Given the description of an element on the screen output the (x, y) to click on. 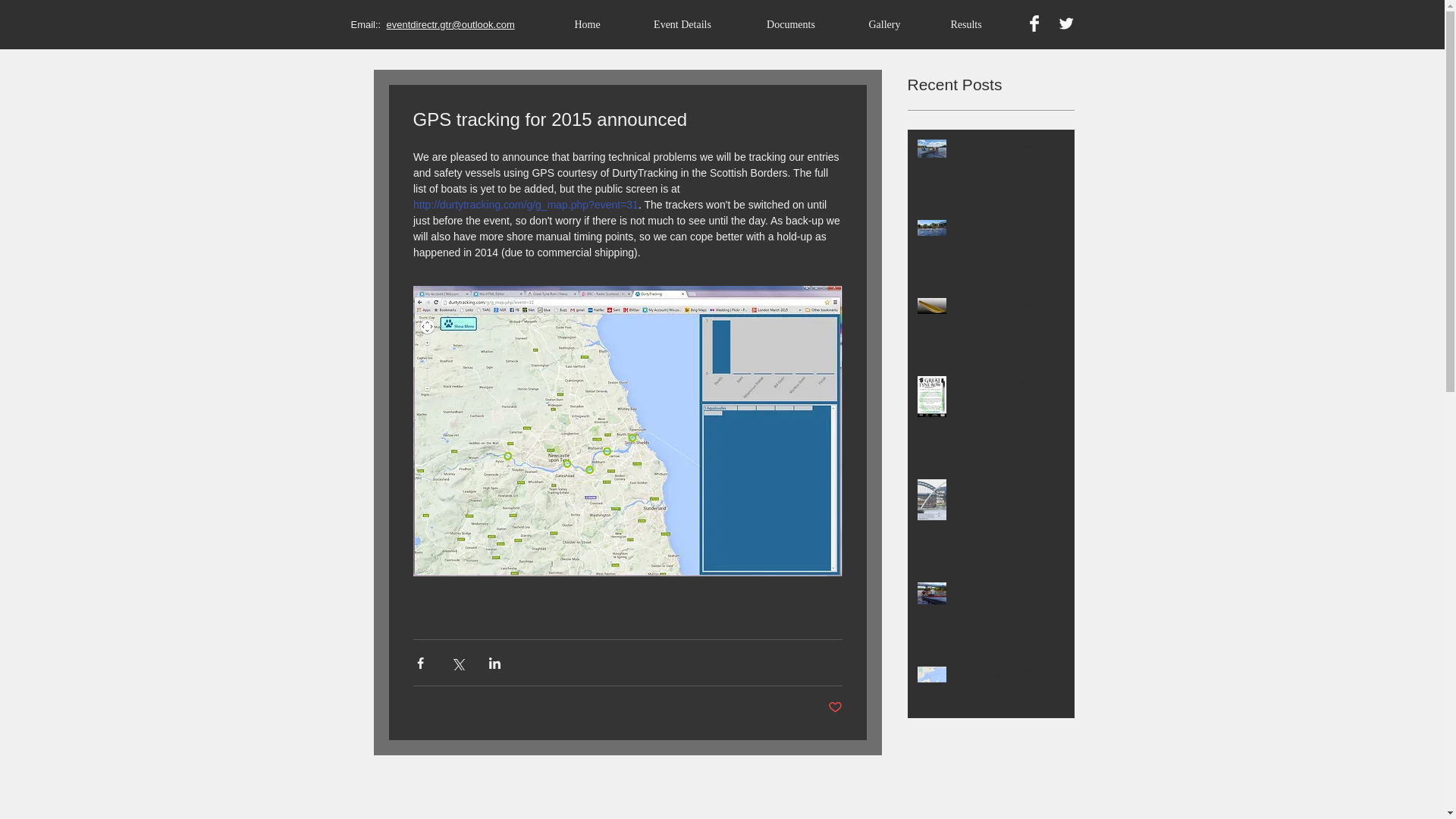
Post not marked as liked (835, 707)
Gallery (883, 24)
Event Details (682, 24)
Great Tyne Row 2022 - start order and times (1009, 236)
Documents (791, 24)
Great Tyne Row 2022 - times and results are out (1009, 163)
Home (586, 24)
The 2022 GTR is ready to rumble (1009, 393)
2017 GTR - we're off! (1009, 591)
Great Tyne Row - help our good cause in 2022 (1009, 322)
Almost off, and good weather on horizon (1009, 683)
